Given the description of an element on the screen output the (x, y) to click on. 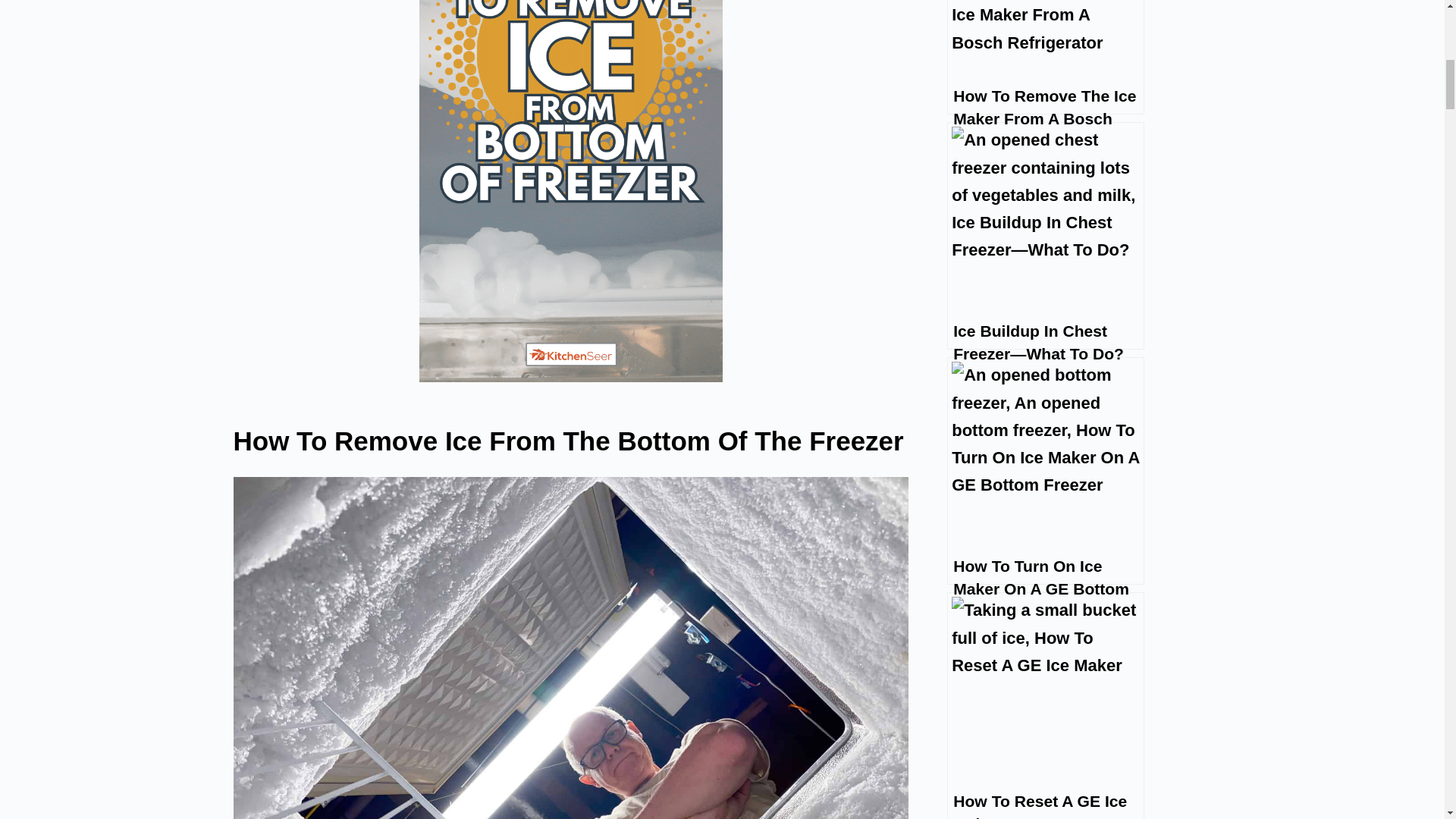
How To Remove The Ice Maker From A Bosch Refrigerator (1045, 57)
